Given the description of an element on the screen output the (x, y) to click on. 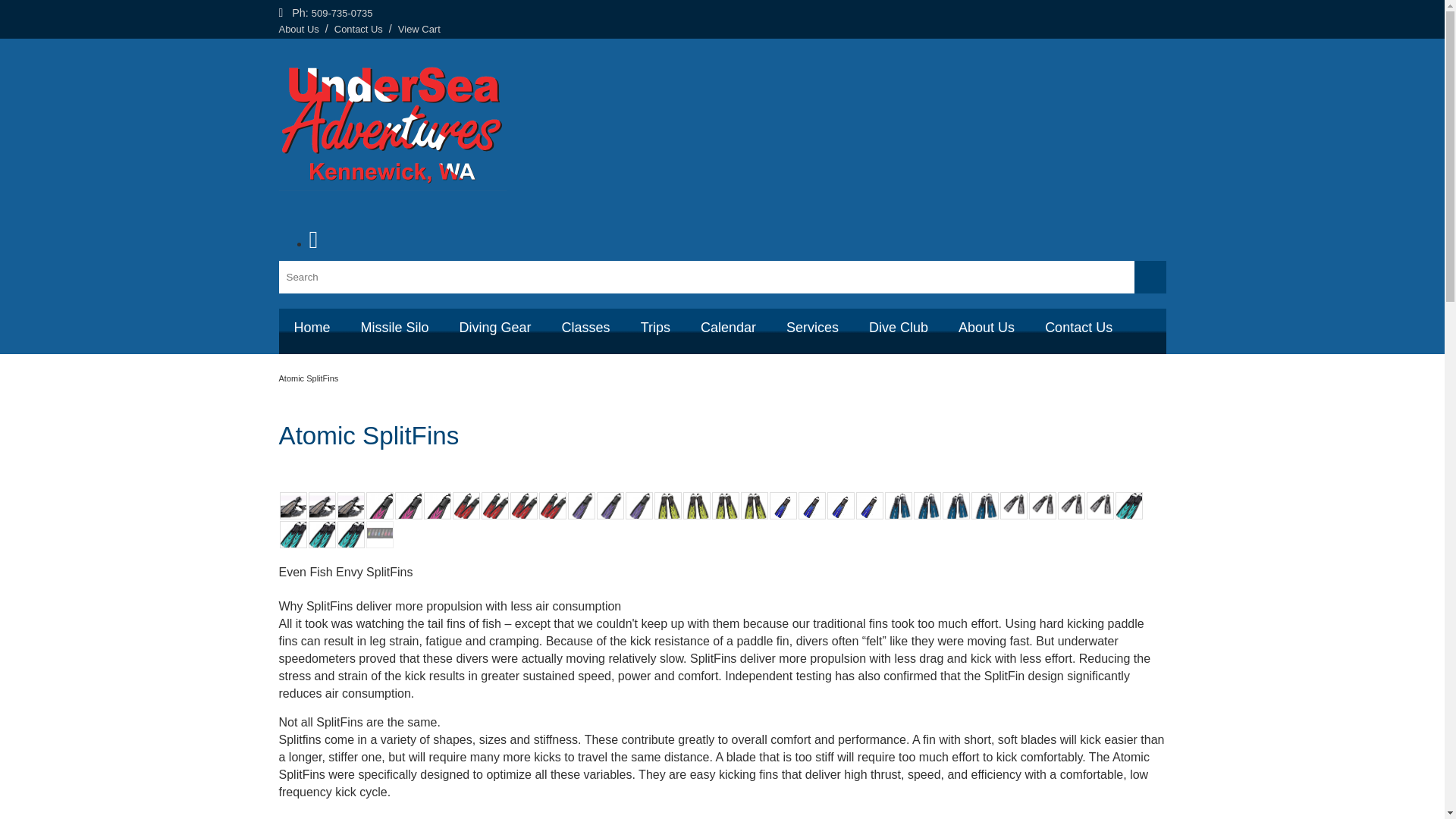
Contact Us (358, 29)
About Us (986, 327)
About Us (298, 29)
Services (812, 327)
Home (312, 327)
Dive Club (898, 327)
Contact Us (1077, 327)
Trips (655, 327)
509-735-0735 (341, 12)
Classes (586, 327)
Missile Silo (395, 327)
Diving Gear (495, 327)
View Cart (419, 29)
